Given the description of an element on the screen output the (x, y) to click on. 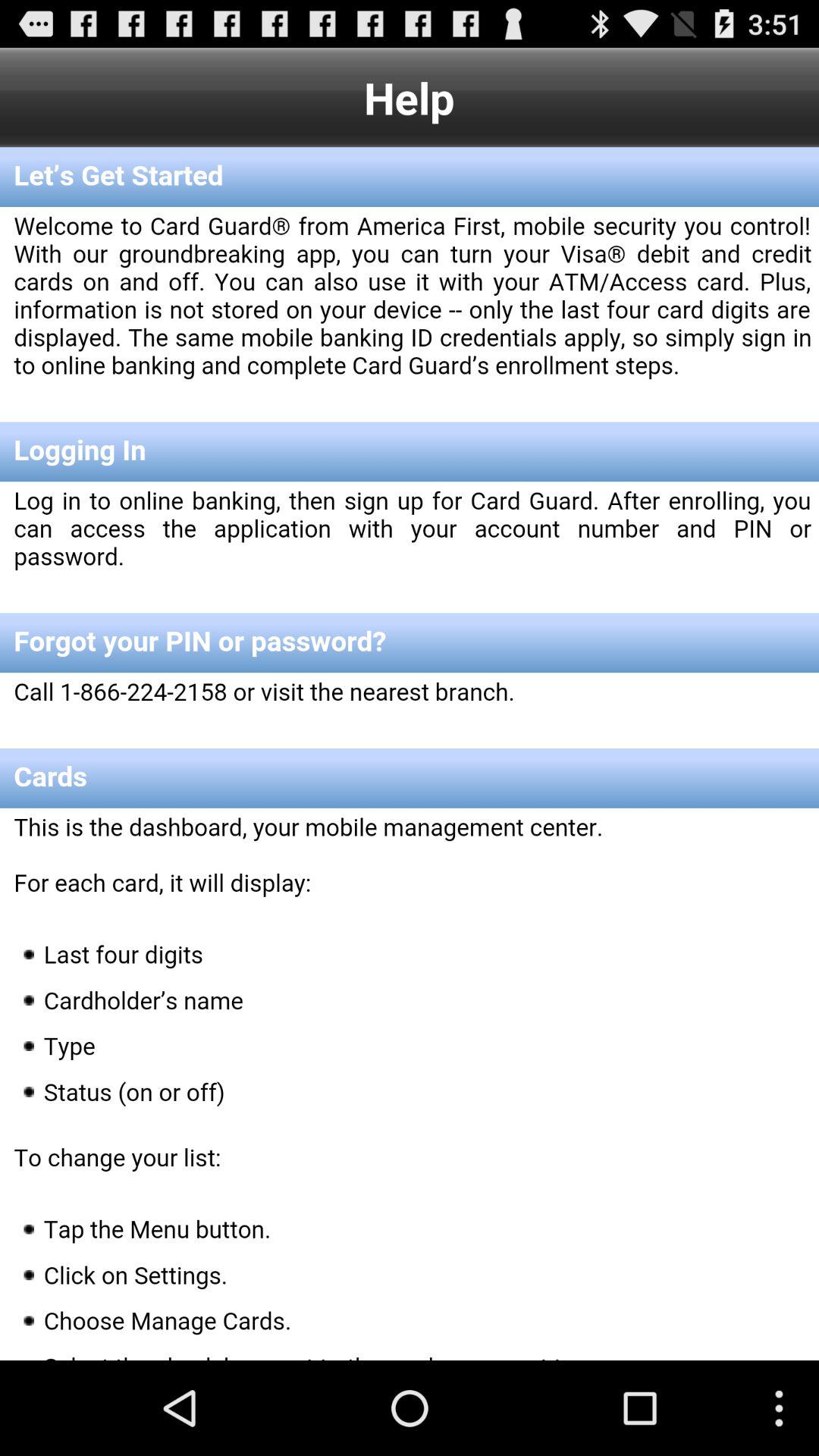
help page (409, 753)
